Given the description of an element on the screen output the (x, y) to click on. 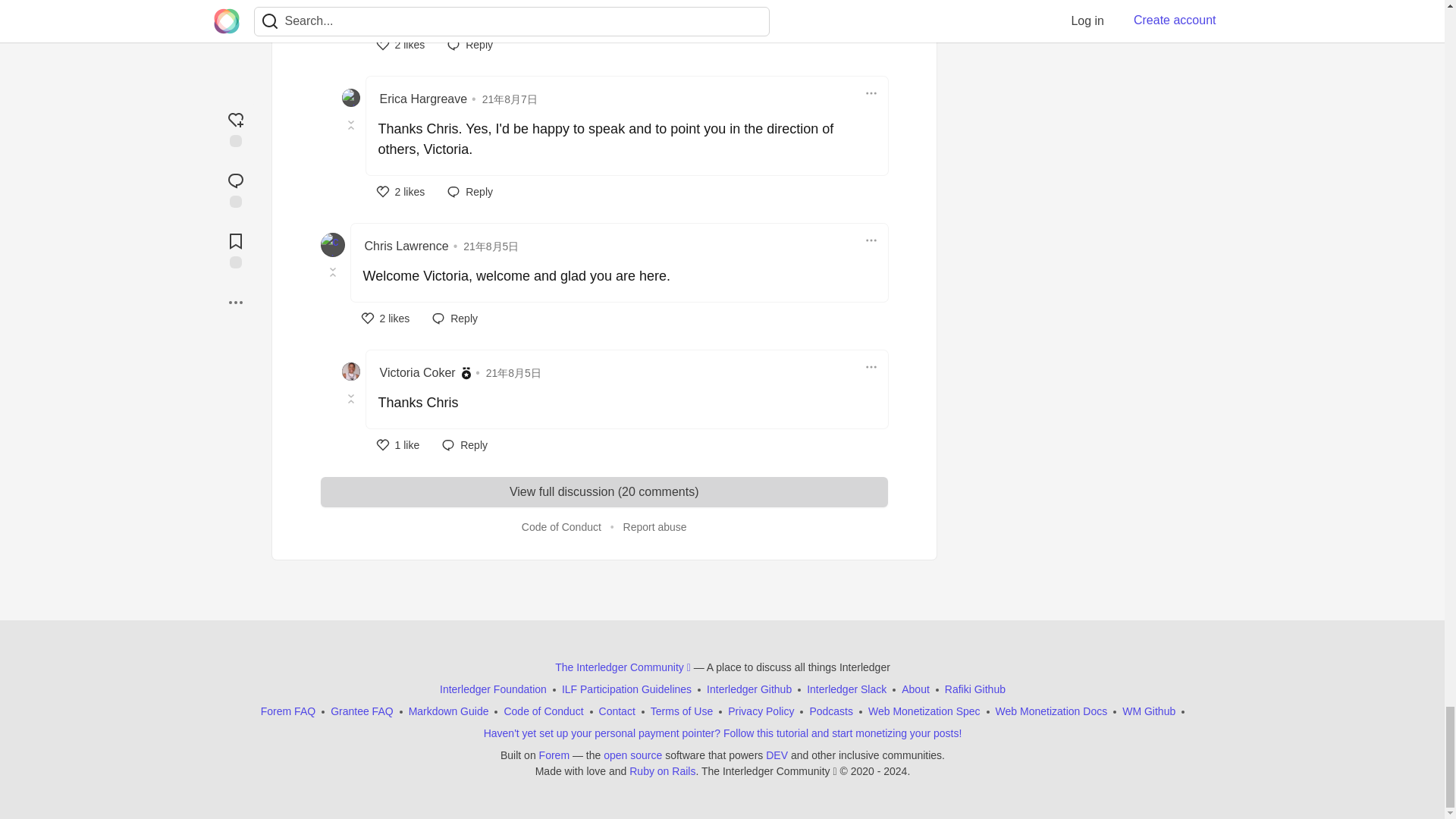
copyright (843, 770)
